Given the description of an element on the screen output the (x, y) to click on. 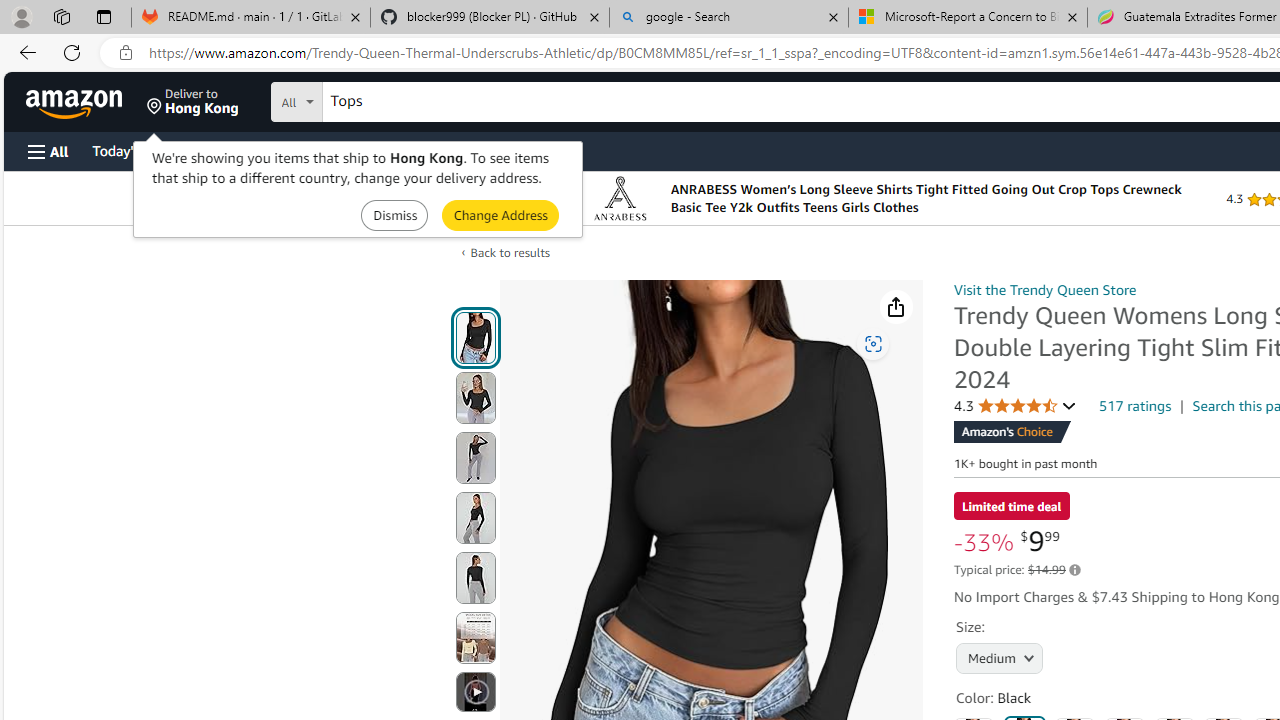
517 ratings (1135, 405)
Customer Service (256, 150)
4.3 4.3 out of 5 stars (1015, 406)
Open Menu (48, 151)
Back to results (509, 251)
Today's Deals (134, 150)
Back to results (509, 252)
Amazon (76, 101)
Deliver to Hong Kong (193, 101)
